Given the description of an element on the screen output the (x, y) to click on. 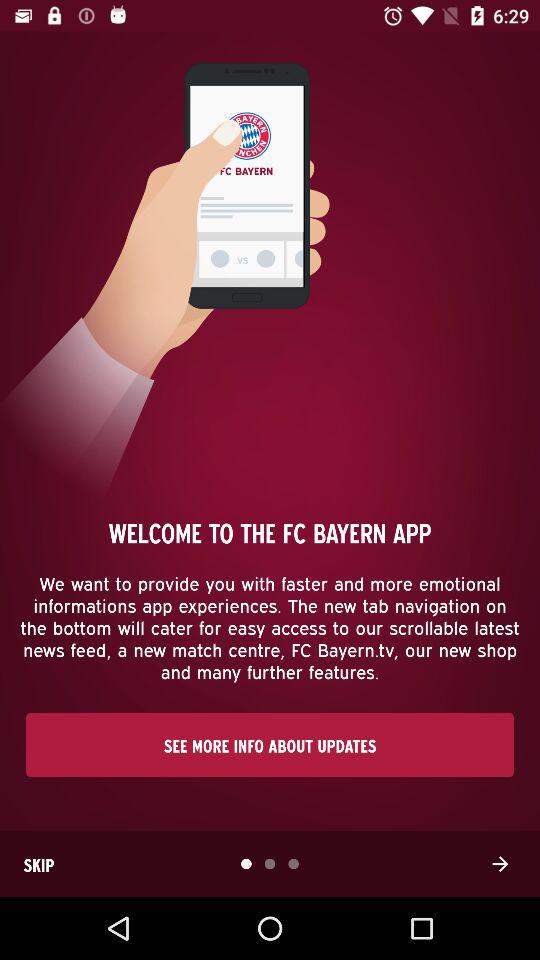
launch item below the see more info icon (39, 864)
